Given the description of an element on the screen output the (x, y) to click on. 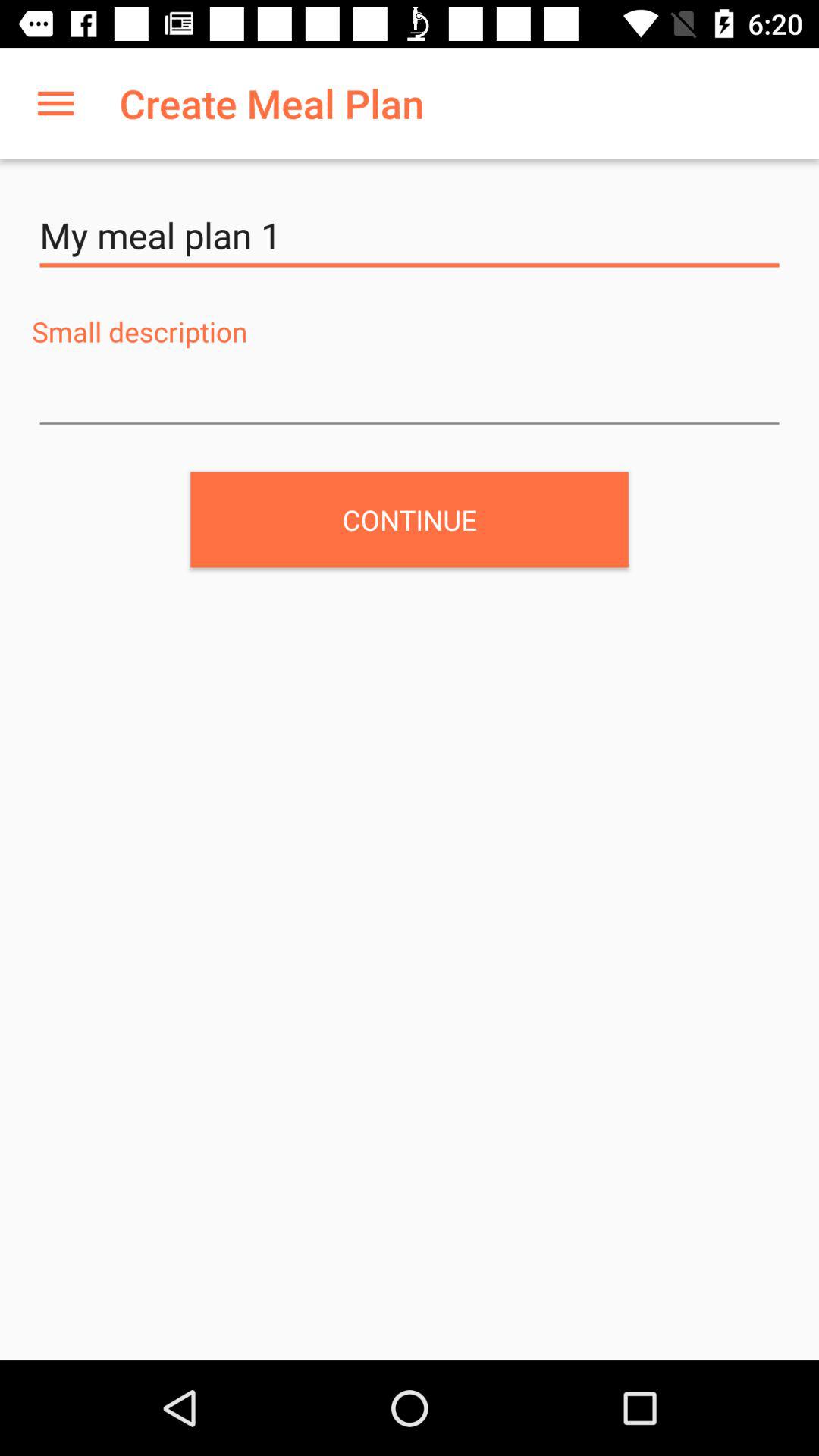
jump until continue (409, 519)
